Given the description of an element on the screen output the (x, y) to click on. 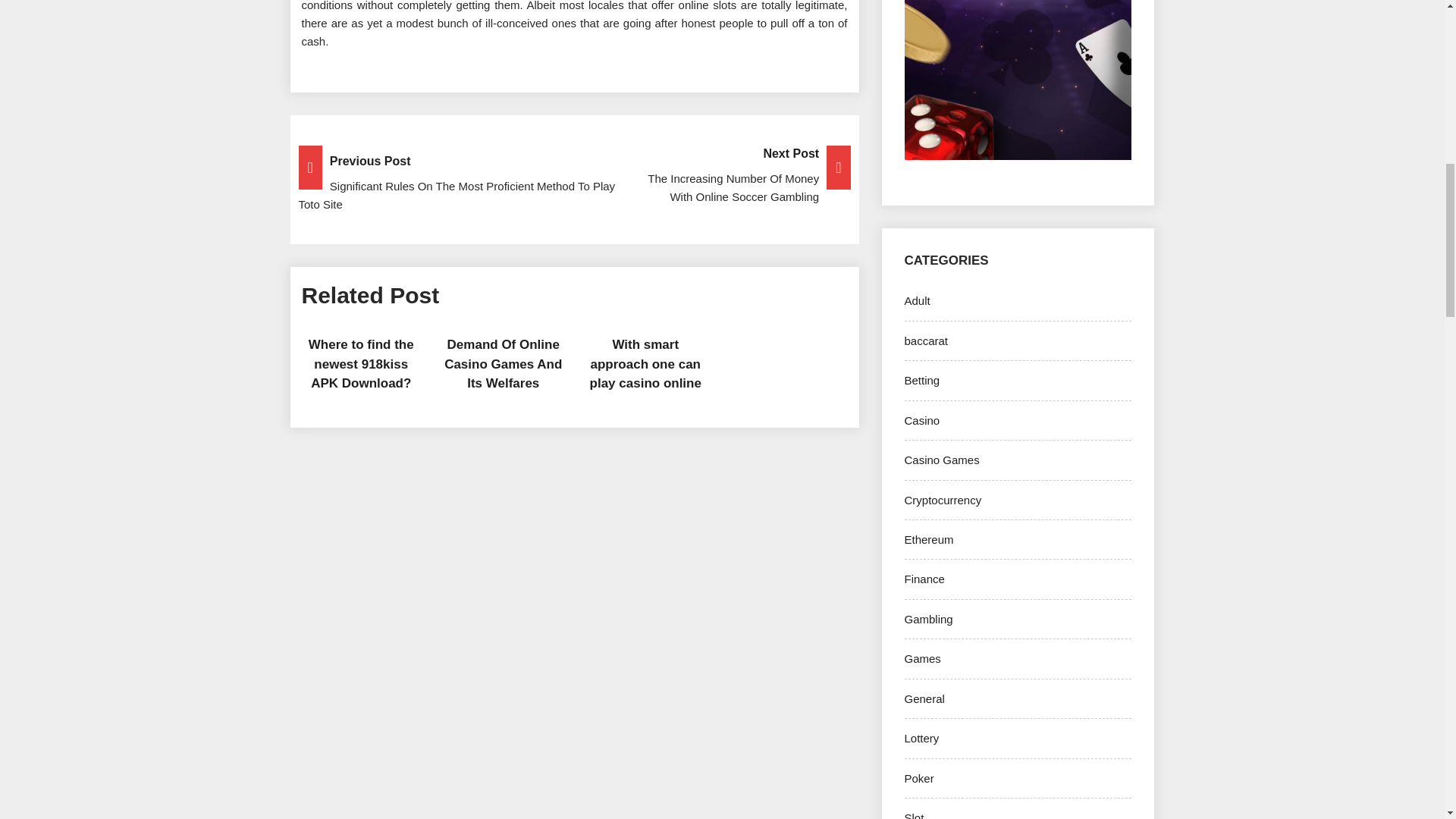
Casino Games (941, 459)
baccarat (925, 340)
Betting (921, 379)
Adult (917, 300)
Lottery (921, 738)
With smart approach one can play casino online (645, 363)
Cryptocurrency (942, 499)
Slot (913, 815)
Casino (921, 420)
Where to find the newest 918kiss APK Download? (360, 363)
Games (922, 658)
Poker (918, 778)
Demand Of Online Casino Games And Its Welfares (503, 363)
Ethereum (928, 539)
